Given the description of an element on the screen output the (x, y) to click on. 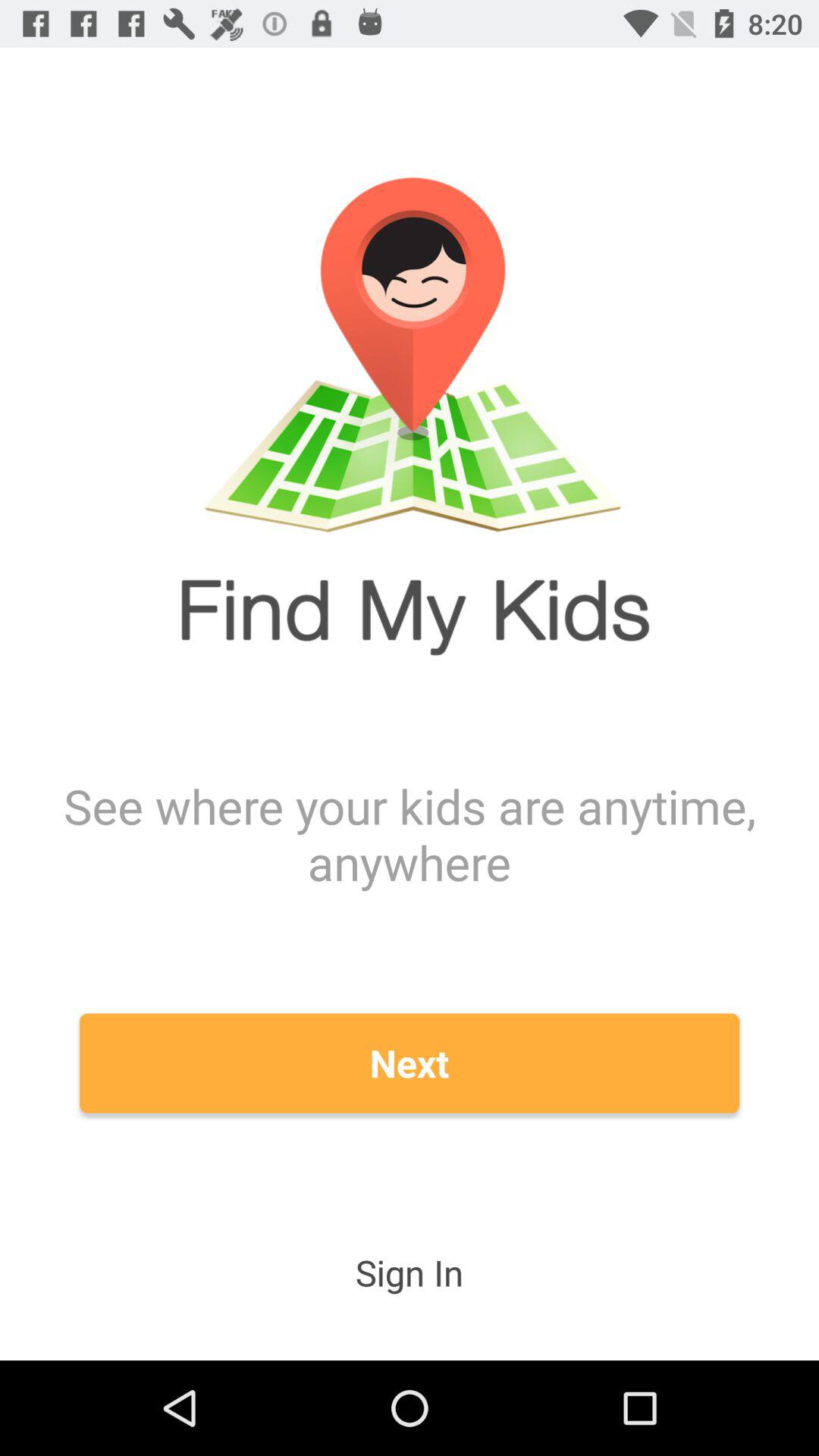
swipe to the sign in icon (409, 1272)
